Given the description of an element on the screen output the (x, y) to click on. 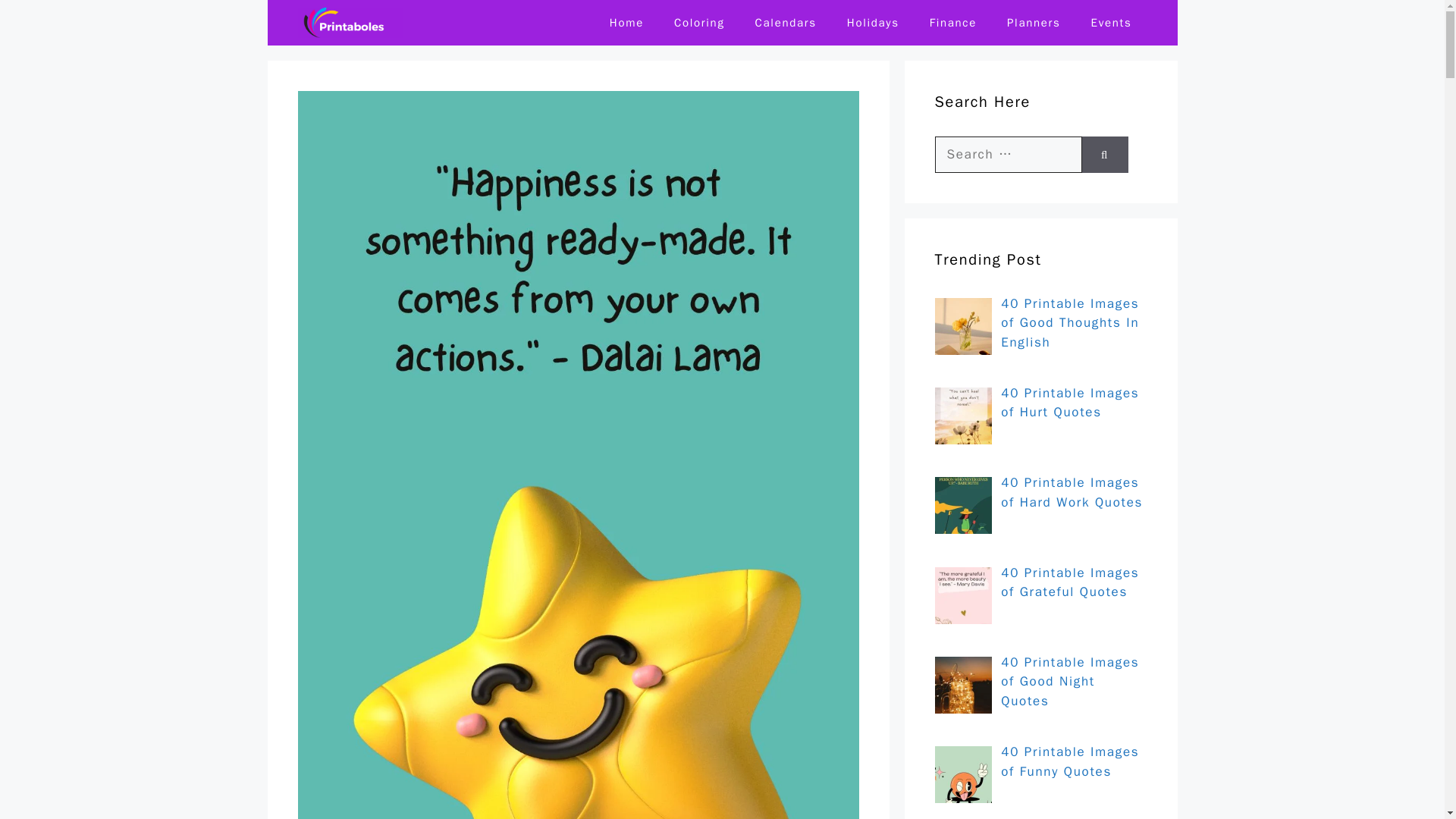
Coloring (699, 22)
Finance (952, 22)
Printaboles (350, 22)
Calendars (785, 22)
Planners (1033, 22)
Events (1111, 22)
Search for: (1007, 154)
Home (626, 22)
Holidays (872, 22)
